Given the description of an element on the screen output the (x, y) to click on. 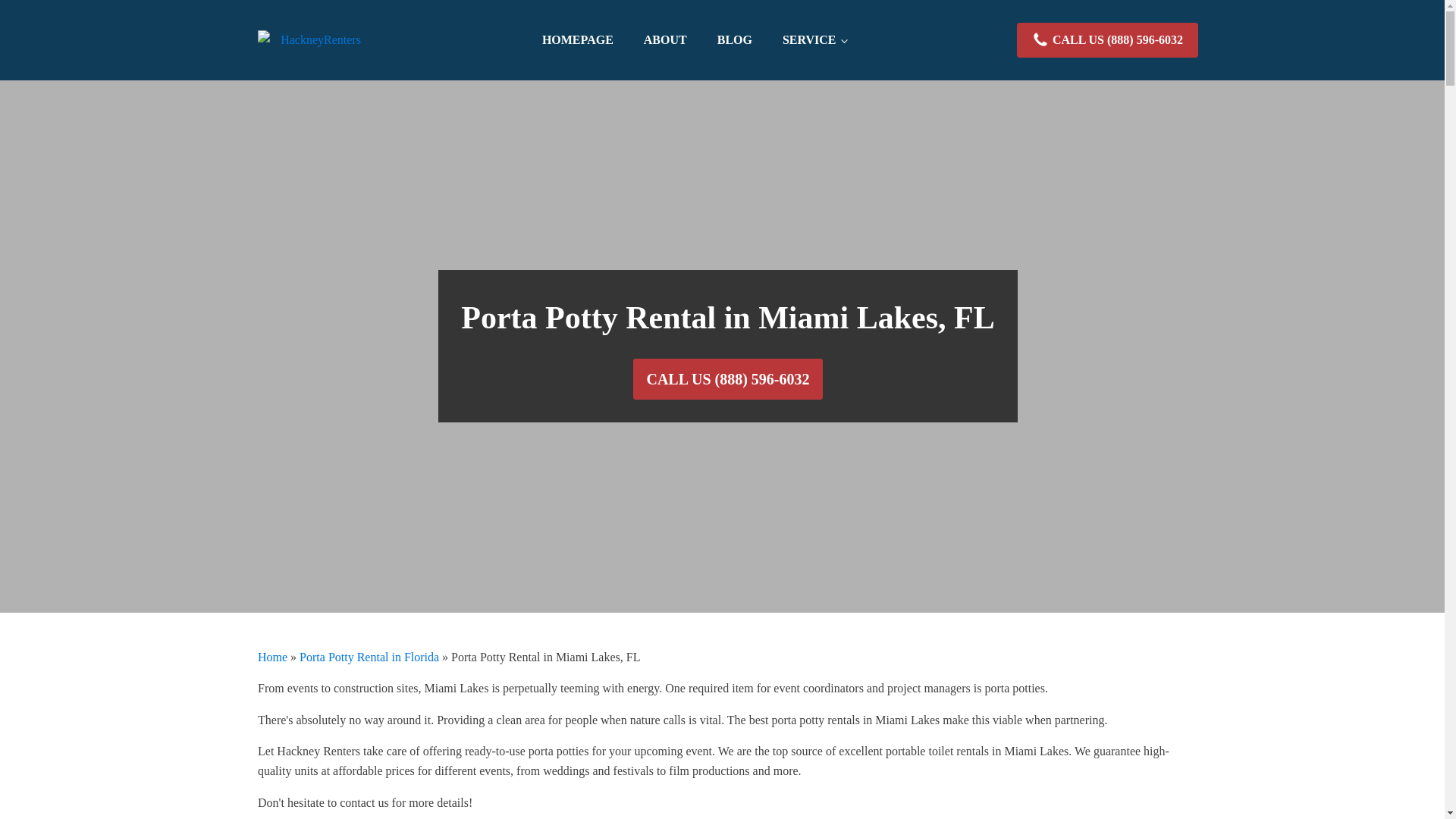
Home (271, 656)
BLOG (734, 40)
Porta Potty Rental in Florida (369, 656)
ABOUT (664, 40)
SERVICE (814, 40)
HOMEPAGE (577, 40)
